Given the description of an element on the screen output the (x, y) to click on. 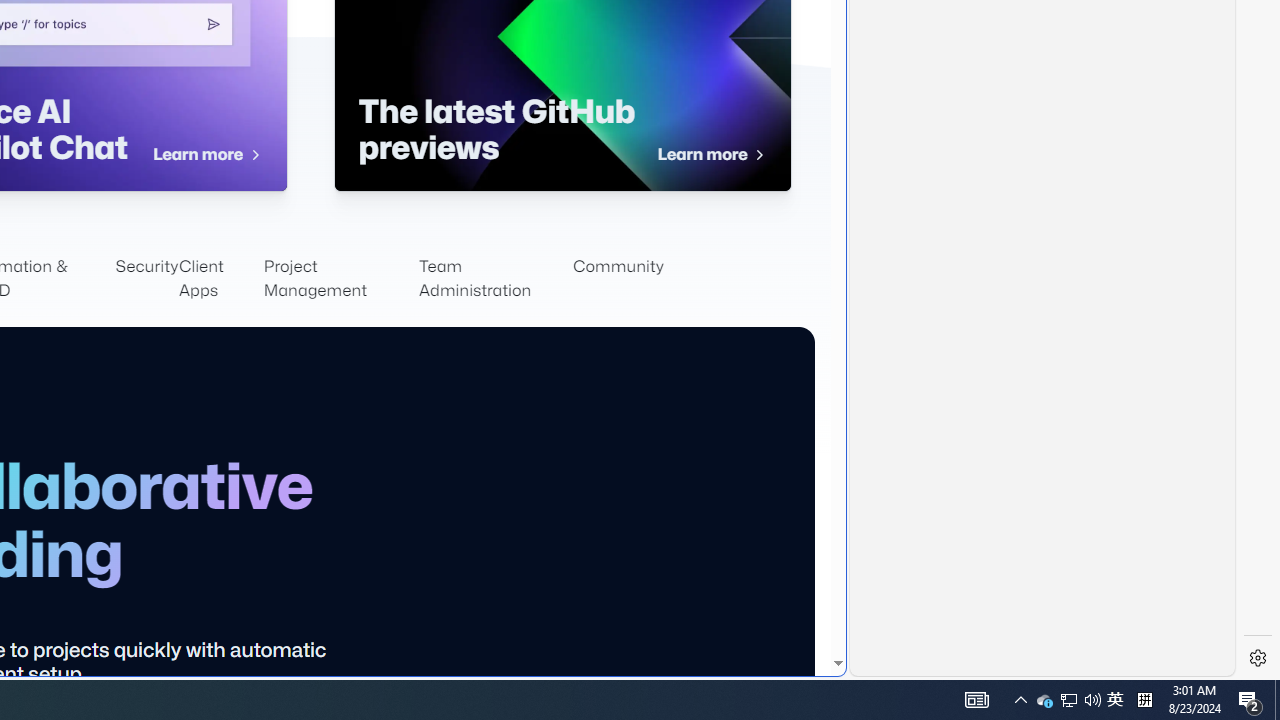
Community (618, 278)
Class: octicon arrow-symbol-mktg octicon (758, 155)
Security (147, 278)
Team Administration (495, 278)
Project Management (340, 278)
Client Apps (220, 278)
